Given the description of an element on the screen output the (x, y) to click on. 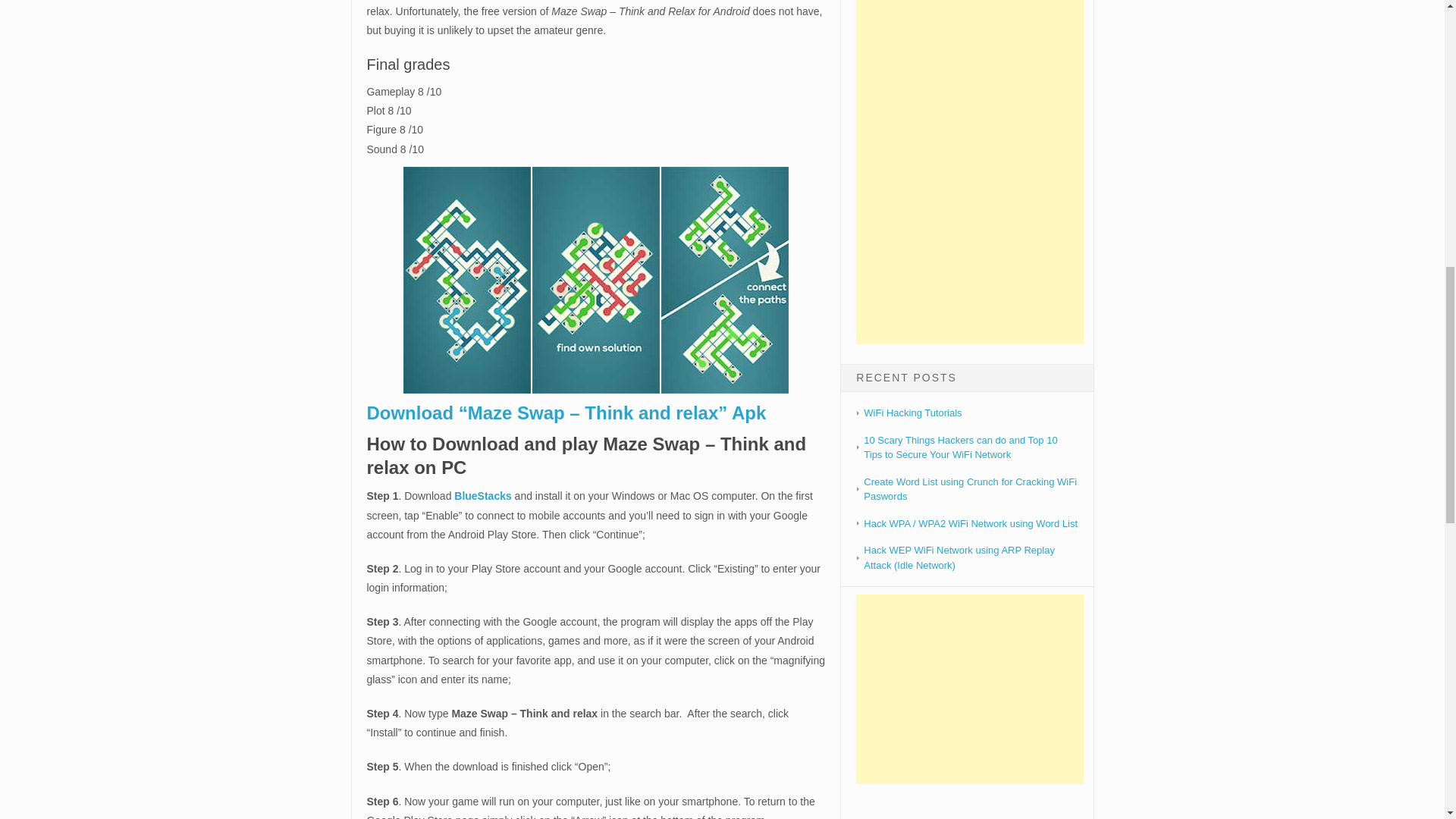
BlueStacks (482, 495)
